Given the description of an element on the screen output the (x, y) to click on. 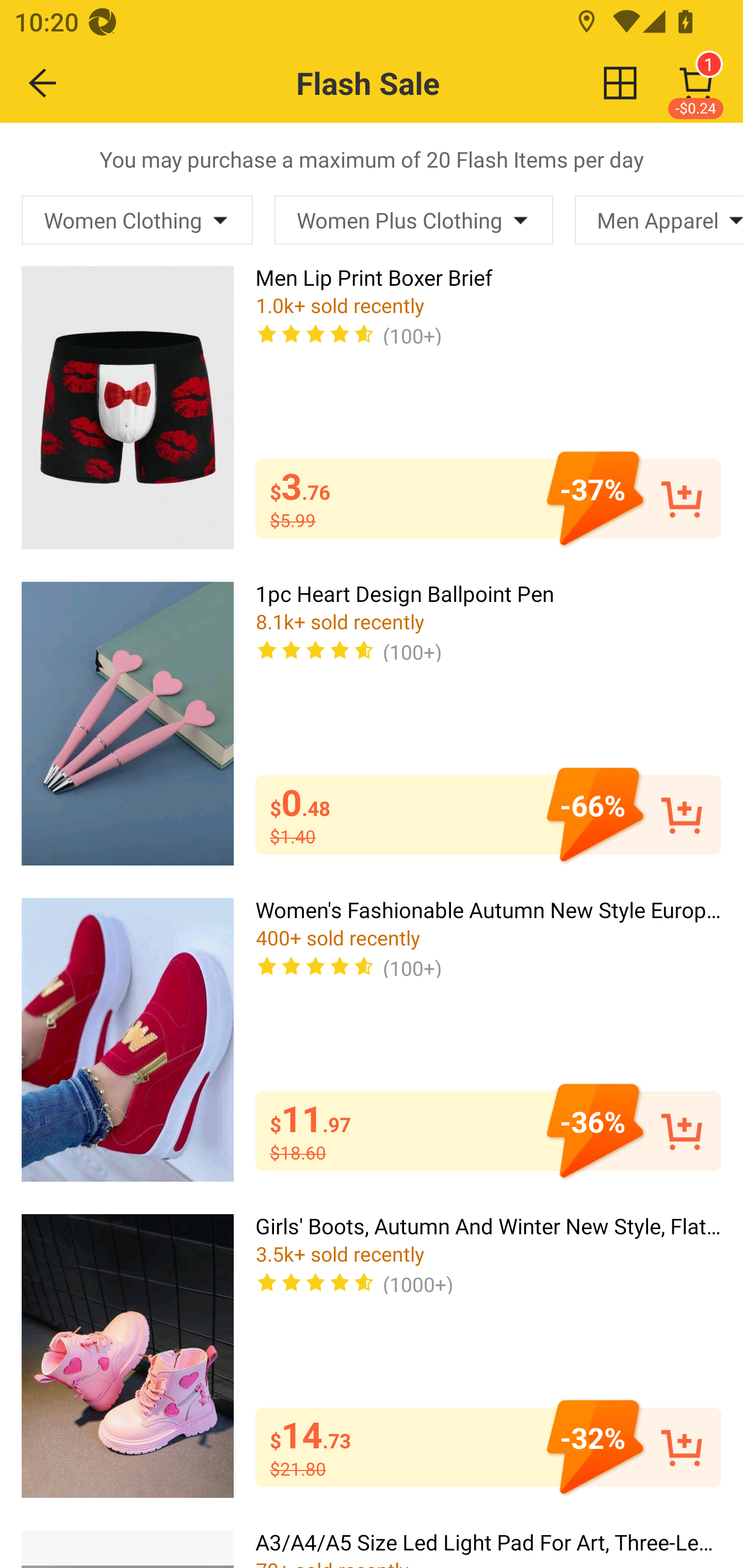
Flash Sale change view 1 -$0.24 (414, 82)
1 -$0.24 (695, 82)
change view (620, 82)
BACK (43, 83)
Women Clothing (136, 220)
Women Plus Clothing (413, 220)
Men Apparel (659, 220)
Men Lip Print Boxer Brief (127, 406)
1pc Heart Design Ballpoint Pen (127, 723)
